Given the description of an element on the screen output the (x, y) to click on. 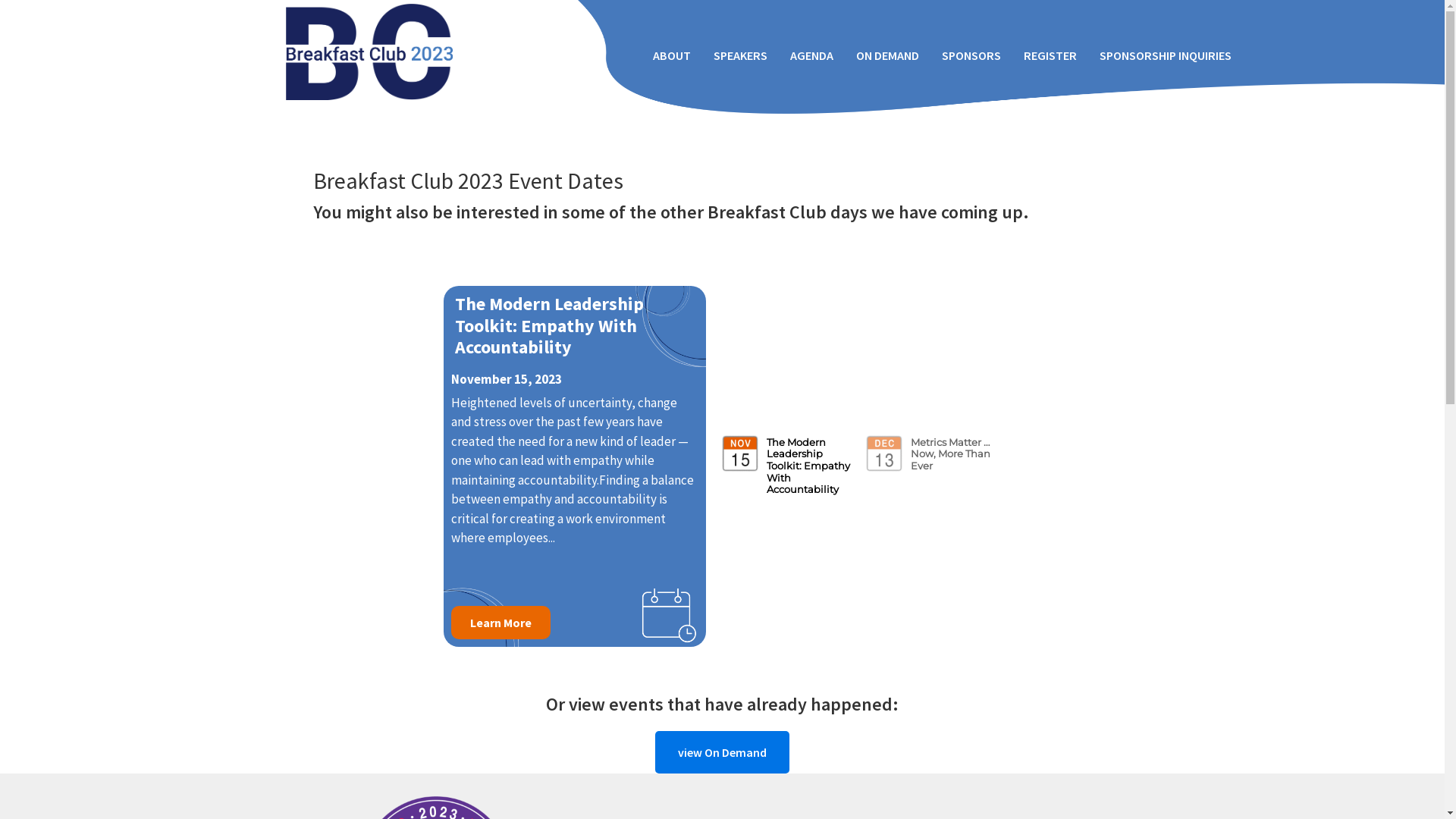
SPONSORSHIP INQUIRIES Element type: text (1164, 55)
SPONSORS Element type: text (970, 55)
Learn More Element type: text (499, 622)
The Modern Leadership Toolkit: Empathy With Accountability Element type: text (573, 325)
AGENDA Element type: text (811, 55)
view On Demand Element type: text (722, 752)
Skip to primary navigation Element type: text (0, 0)
ABOUT Element type: text (671, 55)
REGISTER Element type: text (1049, 55)
ON DEMAND Element type: text (887, 55)
SPEAKERS Element type: text (740, 55)
